Given the description of an element on the screen output the (x, y) to click on. 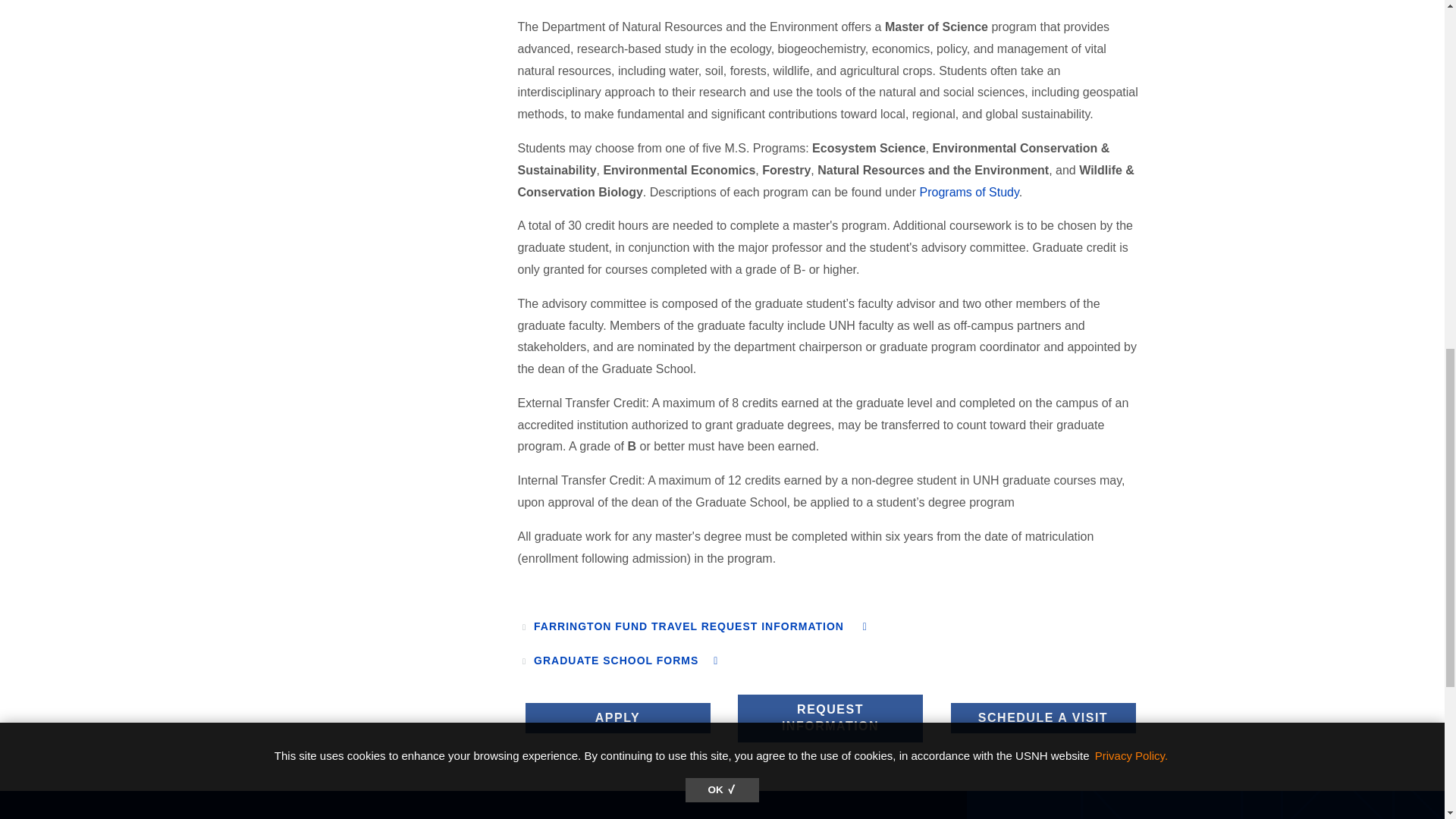
Farrington fund travel scholarship guidelines and templates (700, 625)
